Given the description of an element on the screen output the (x, y) to click on. 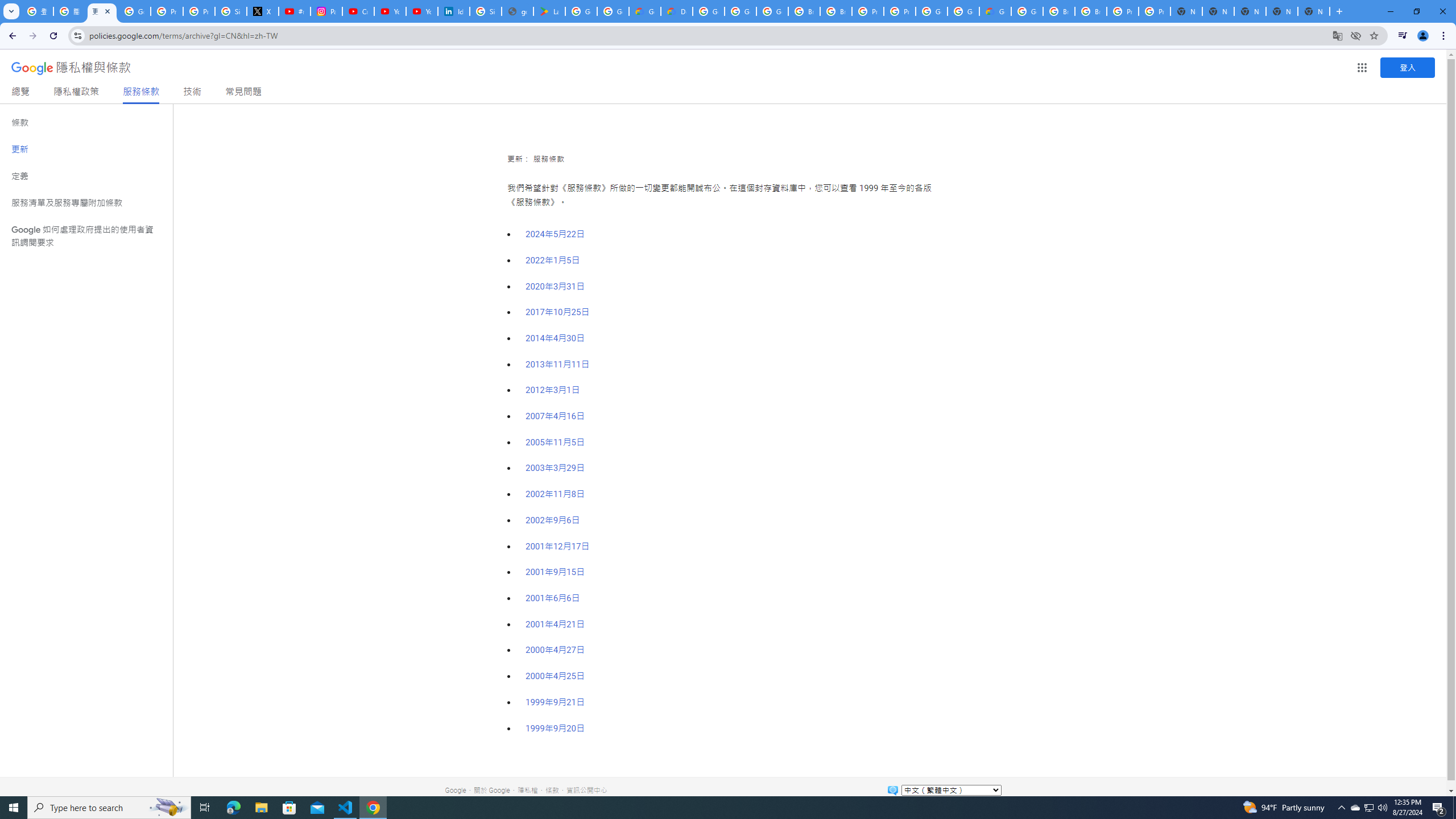
#nbabasketballhighlights - YouTube (294, 11)
